Given the description of an element on the screen output the (x, y) to click on. 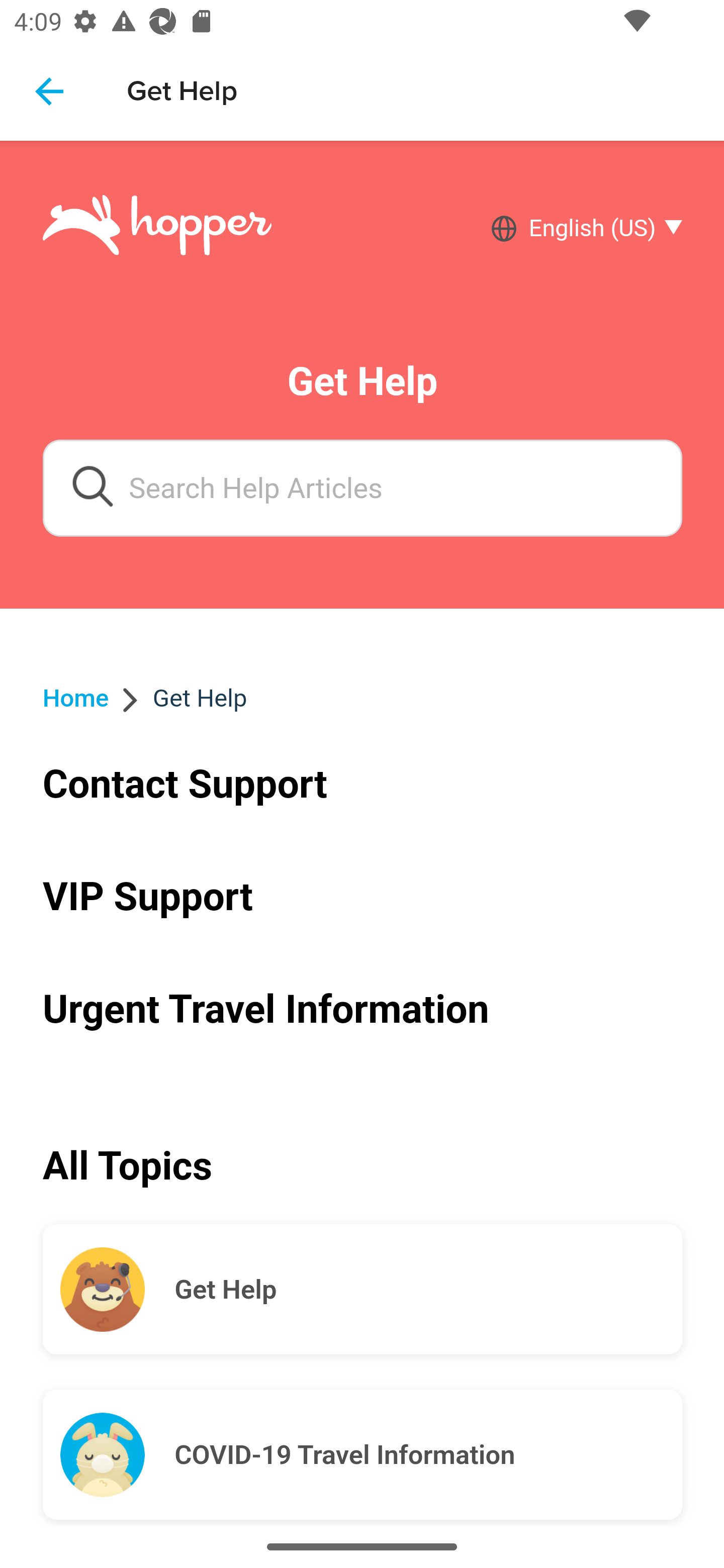
Navigate up (49, 91)
Brand logo (156, 227)
English (US) (599, 228)
Home (75, 697)
Get Help (428, 1290)
COVID-19 Travel Information (428, 1454)
